Given the description of an element on the screen output the (x, y) to click on. 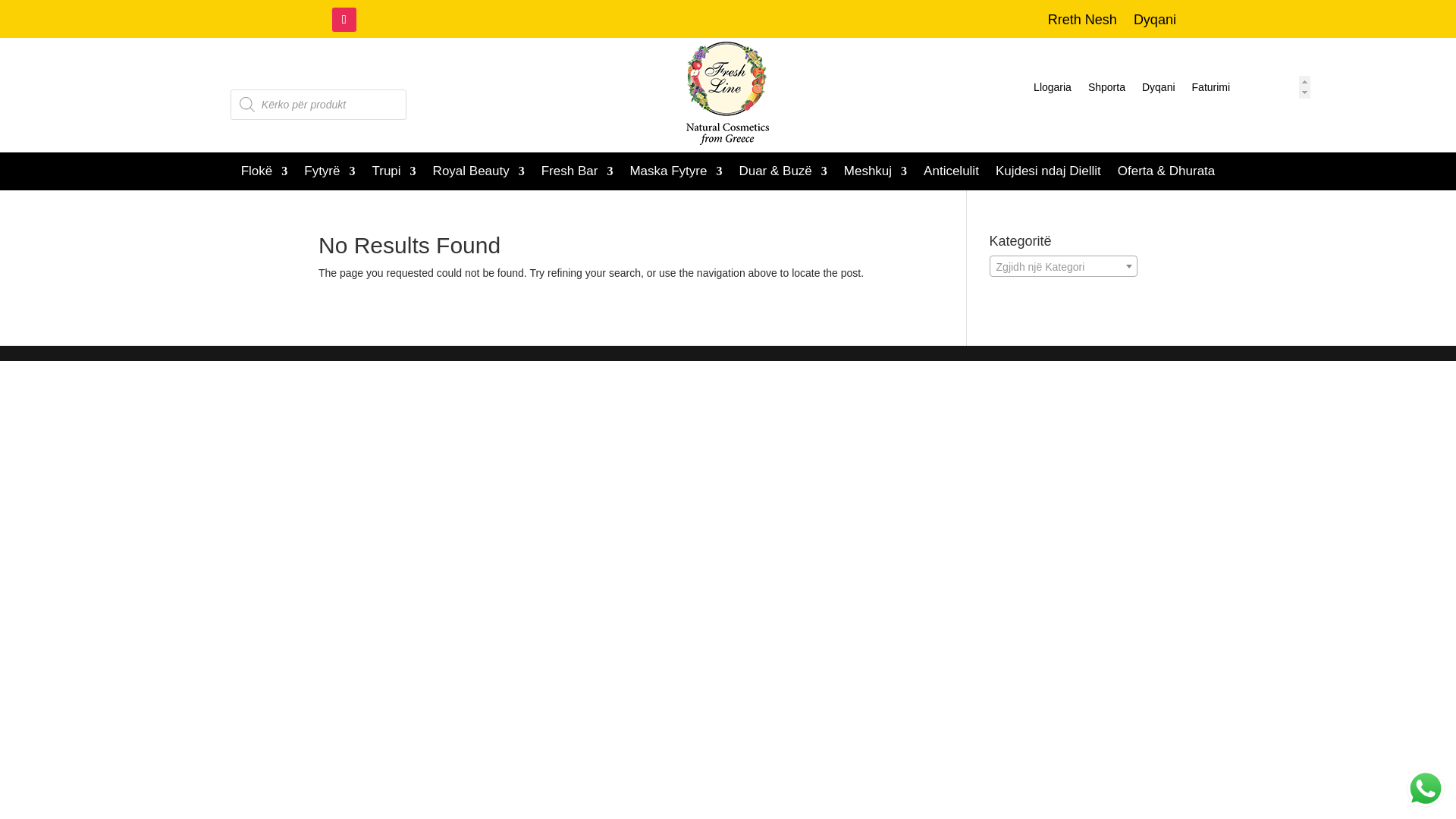
Shporta (1106, 89)
Follow on Instagram (343, 19)
Dyqani (1155, 22)
Faturimi (1211, 89)
Llogaria (1052, 89)
Rreth Nesh (1082, 22)
Freshline Logo (727, 92)
Dyqani (1157, 89)
